Given the description of an element on the screen output the (x, y) to click on. 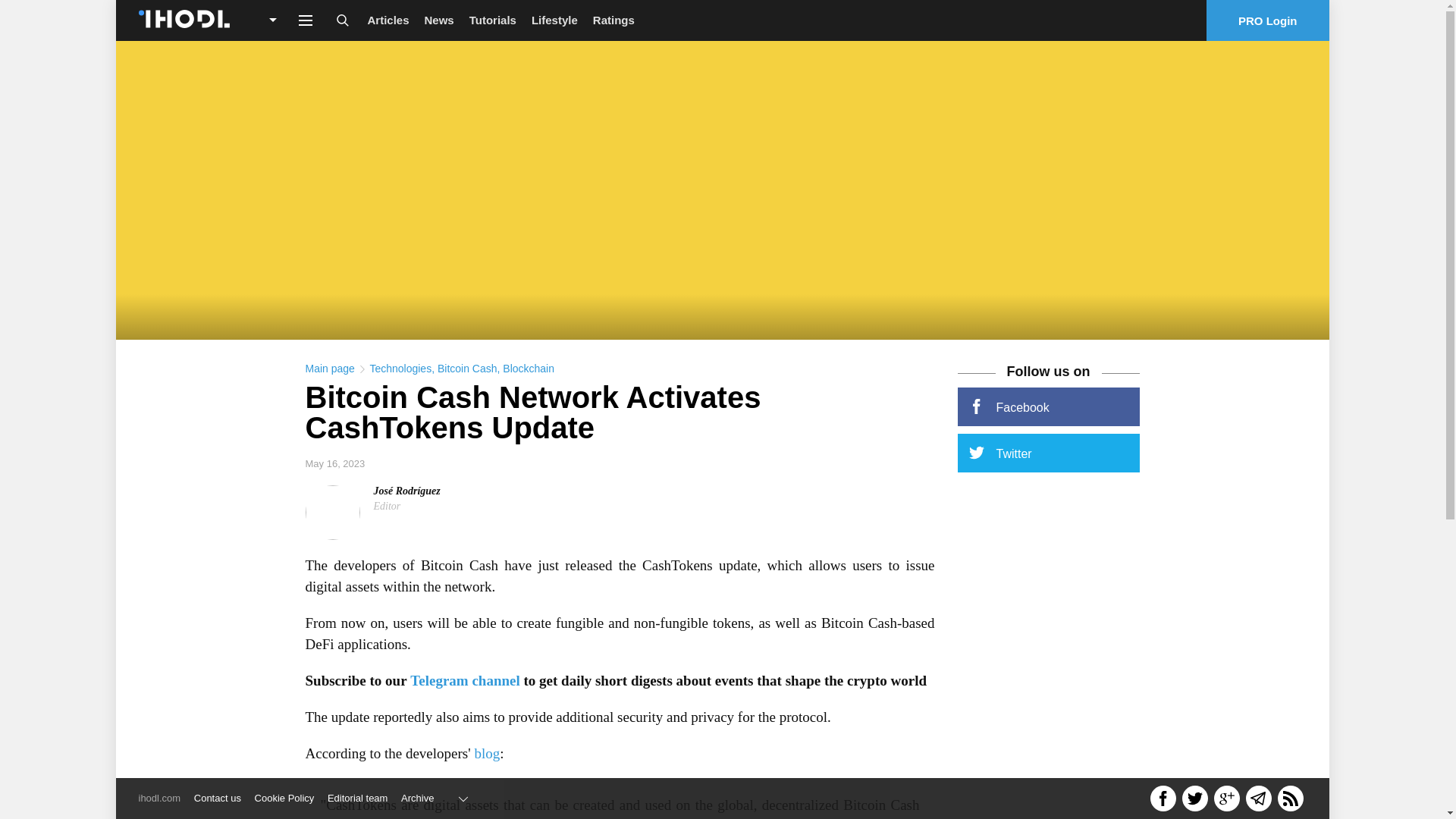
Bitcoin Cash (467, 368)
Tutorials (492, 20)
Technologies (399, 368)
Blockchain (528, 368)
Ratings (613, 20)
Main page (328, 368)
blog (486, 753)
News (438, 20)
Editor (386, 505)
Telegram channel (464, 680)
Lifestyle (554, 20)
Articles (387, 20)
PRO Login (1268, 20)
